Given the description of an element on the screen output the (x, y) to click on. 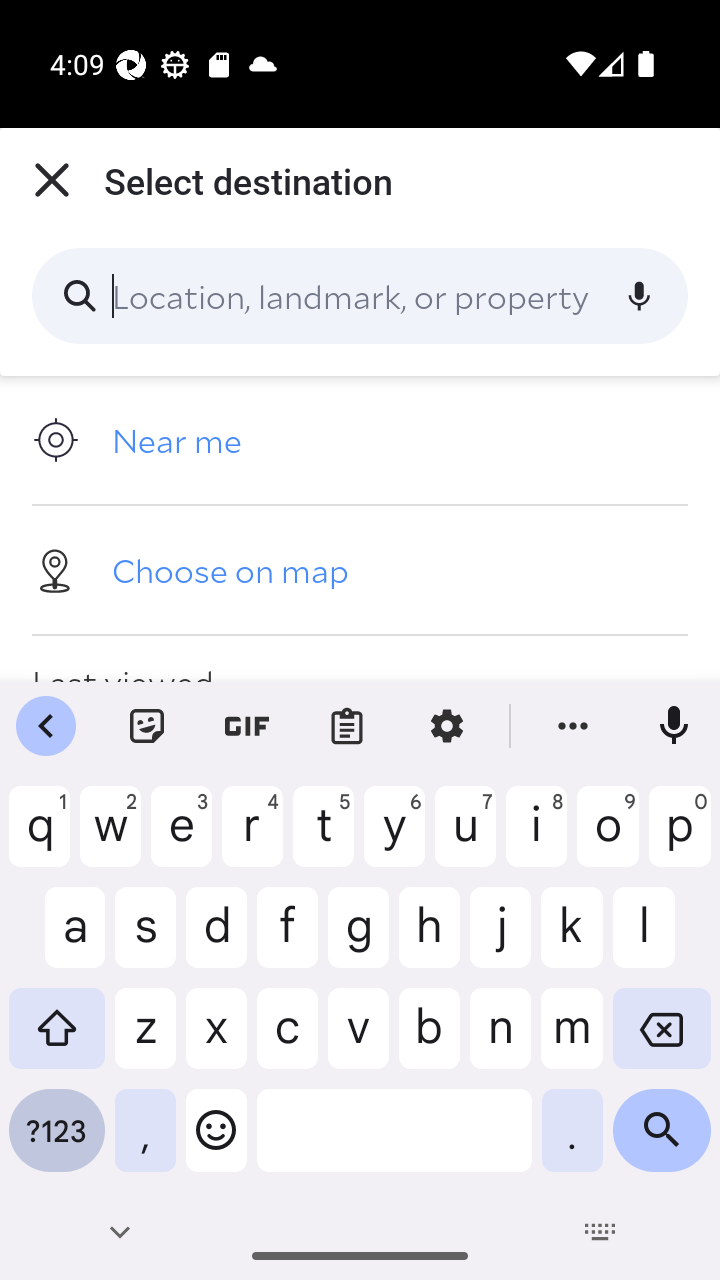
Location, landmark, or property (359, 296)
Near me (360, 440)
Choose on map (360, 569)
